Given the description of an element on the screen output the (x, y) to click on. 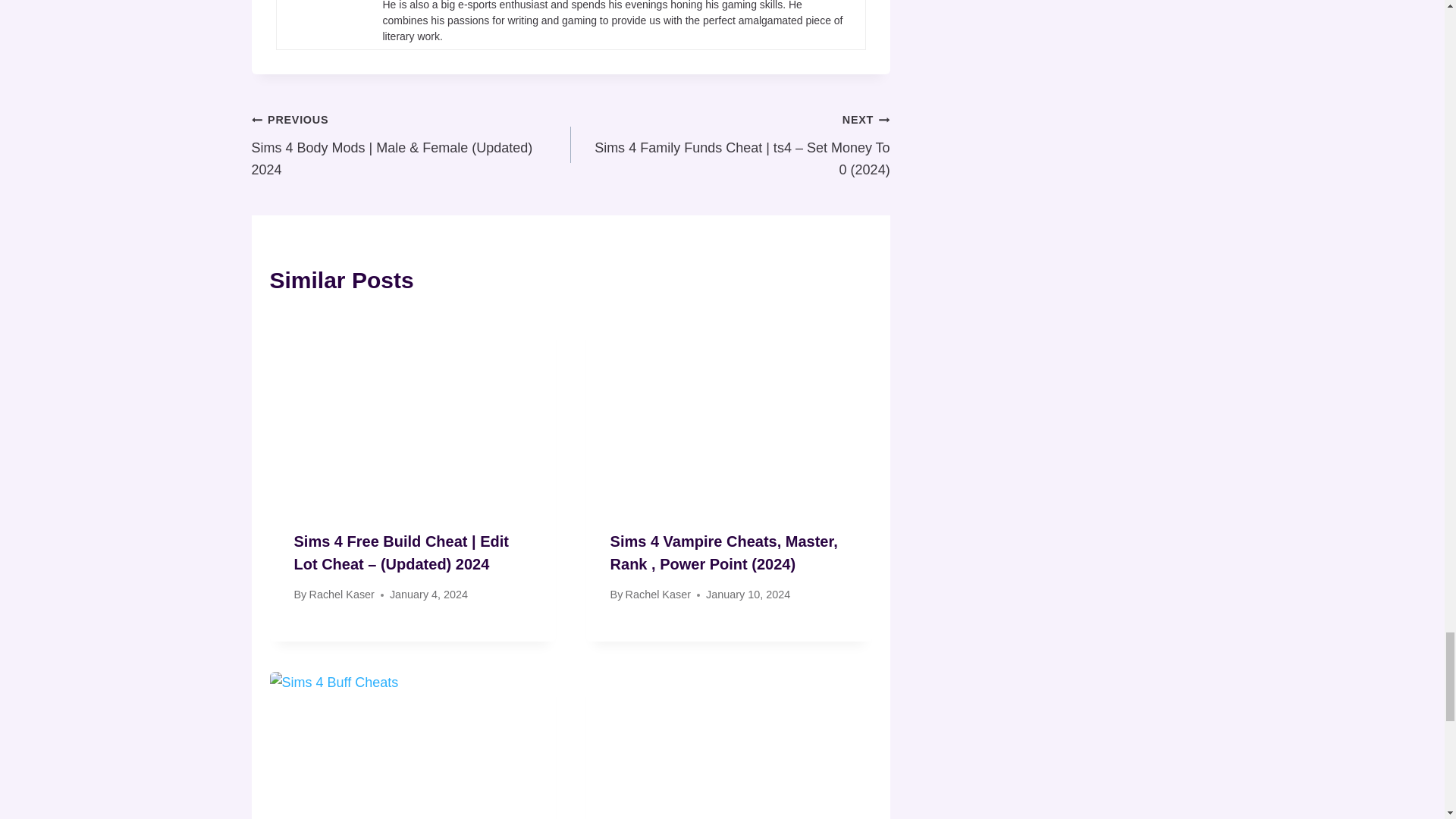
Rachel Kaser (658, 594)
Rachel Kaser (341, 594)
